Given the description of an element on the screen output the (x, y) to click on. 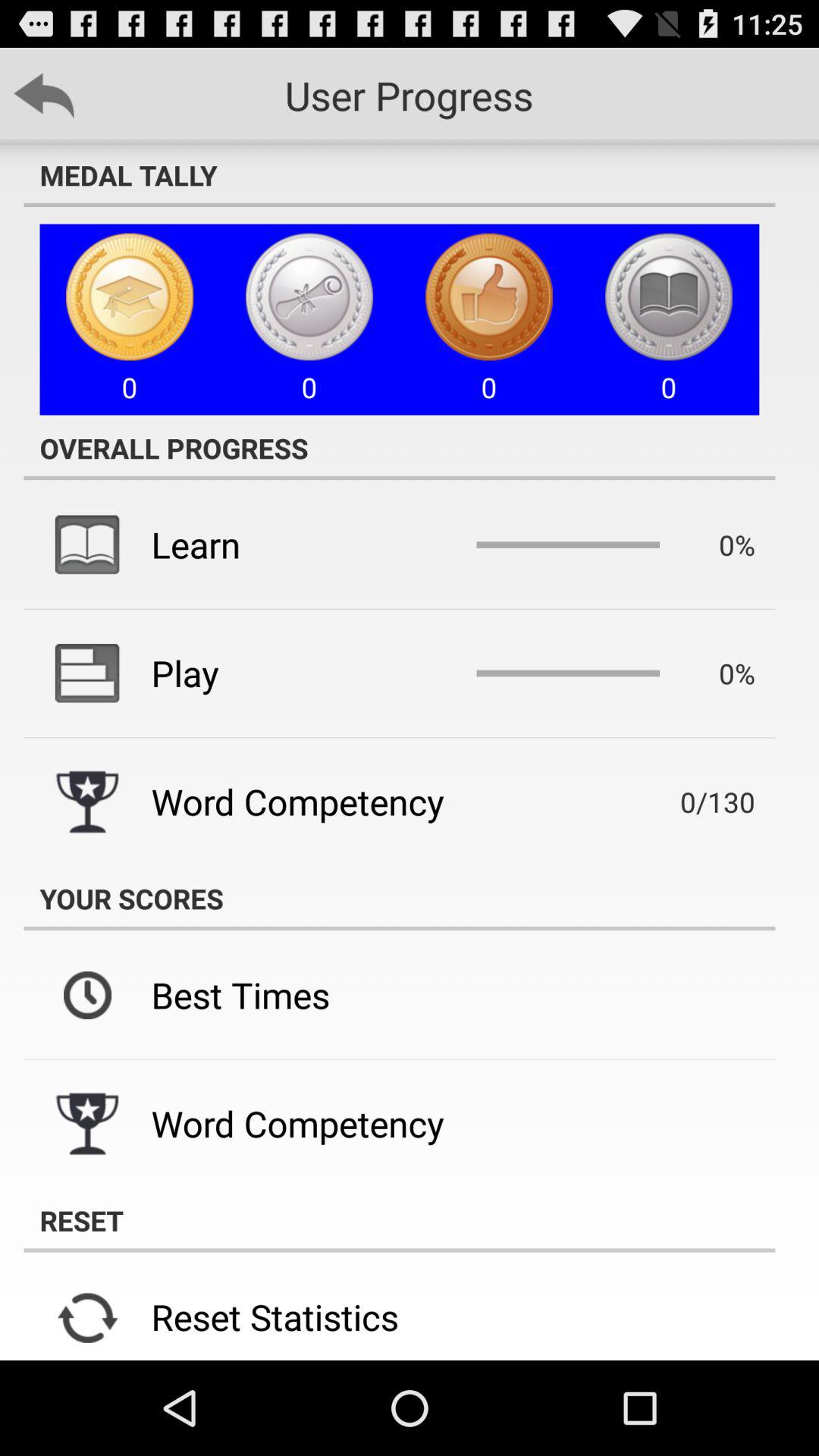
click item next to the word competency icon (695, 801)
